Given the description of an element on the screen output the (x, y) to click on. 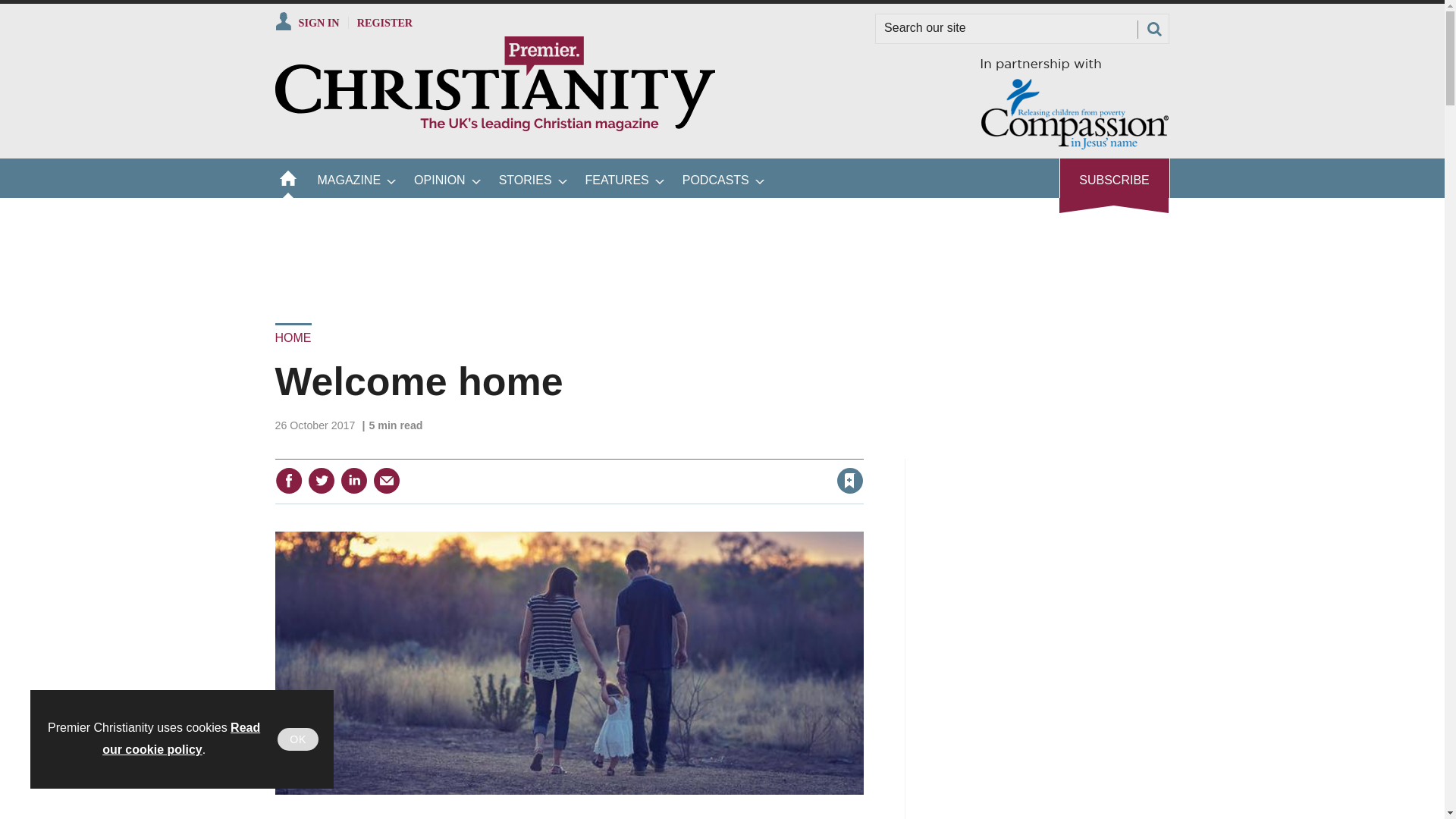
SEARCH (1153, 28)
Share this on Facebook (288, 480)
Share this on Twitter (320, 480)
SIGN IN (307, 22)
Email this article (386, 480)
Share this on Linked in (352, 480)
Site name (494, 126)
Read our cookie policy (180, 738)
REGISTER (384, 22)
OK (298, 739)
